Given the description of an element on the screen output the (x, y) to click on. 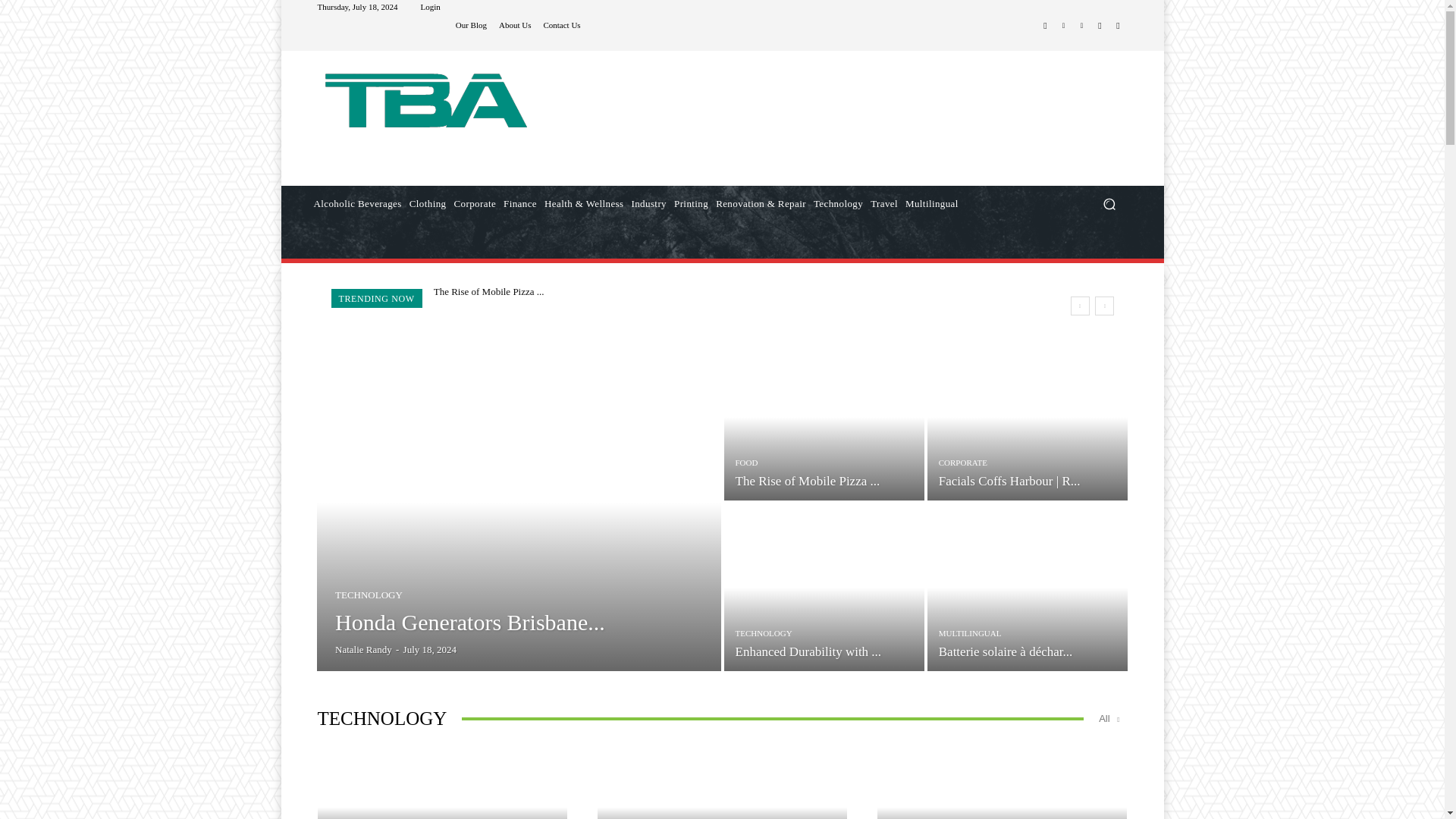
Twitter (1099, 25)
Login (429, 7)
Contact Us (561, 25)
Clothing (427, 203)
The Rise of Mobile Pizza Sydney: A New Era of Catering (488, 291)
Finance (519, 203)
Corporate (474, 203)
Our Blog (470, 25)
Alcoholic Beverages (356, 203)
Travel (883, 203)
Multilingual (931, 203)
Industry (648, 203)
Pinterest (1080, 25)
Linkedin (1062, 25)
About Us (515, 25)
